Given the description of an element on the screen output the (x, y) to click on. 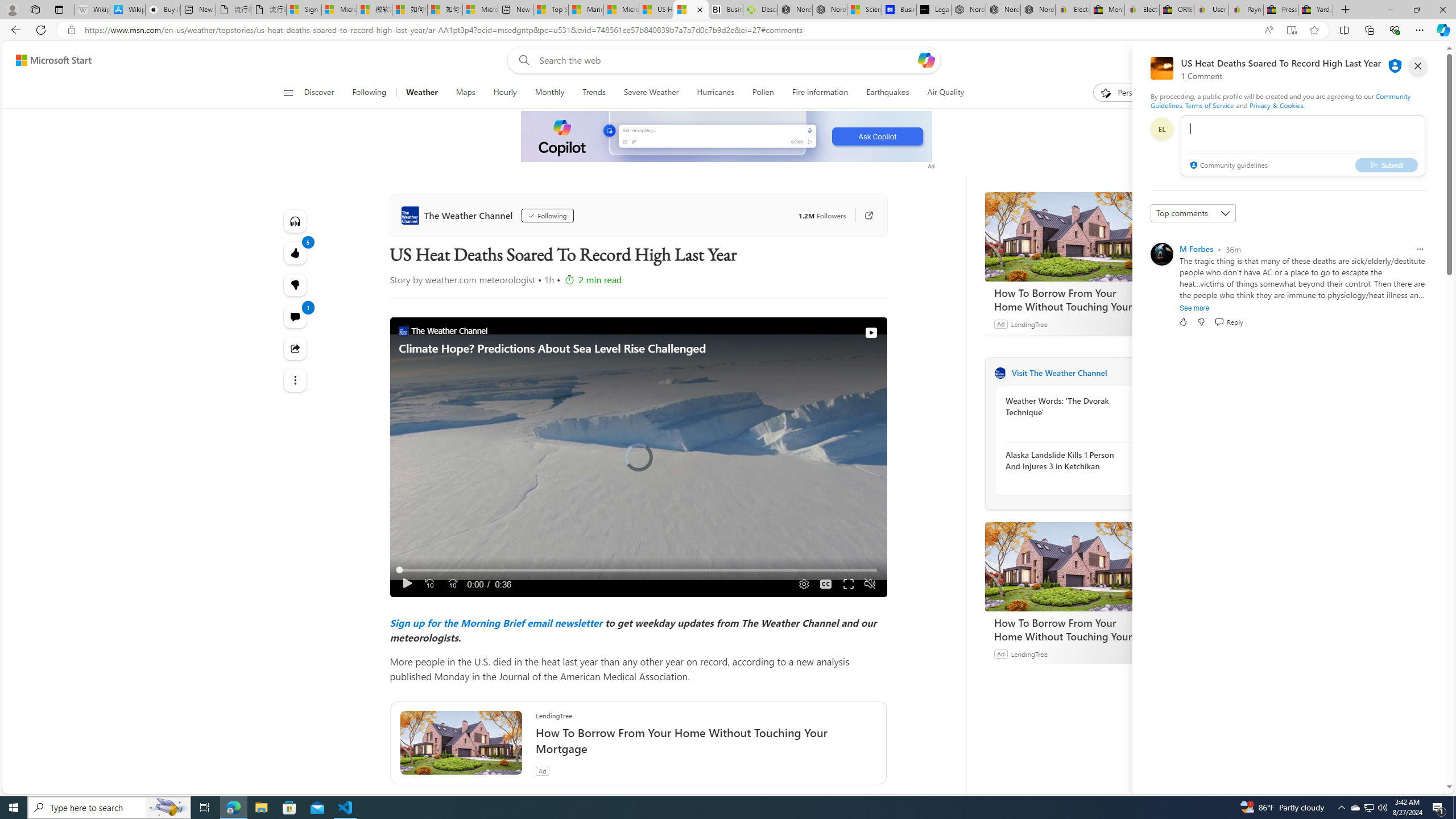
Fire information (820, 92)
Earthquakes (887, 92)
Personalize (1128, 92)
Progress Bar (638, 569)
Share this story (295, 348)
Monthly (549, 92)
Seek Back (429, 583)
View on Watch (870, 332)
Unmute (868, 583)
Workspaces (34, 9)
Add this page to favorites (Ctrl+D) (1314, 29)
Descarga Driver Updater (760, 9)
Hourly (504, 92)
